Given the description of an element on the screen output the (x, y) to click on. 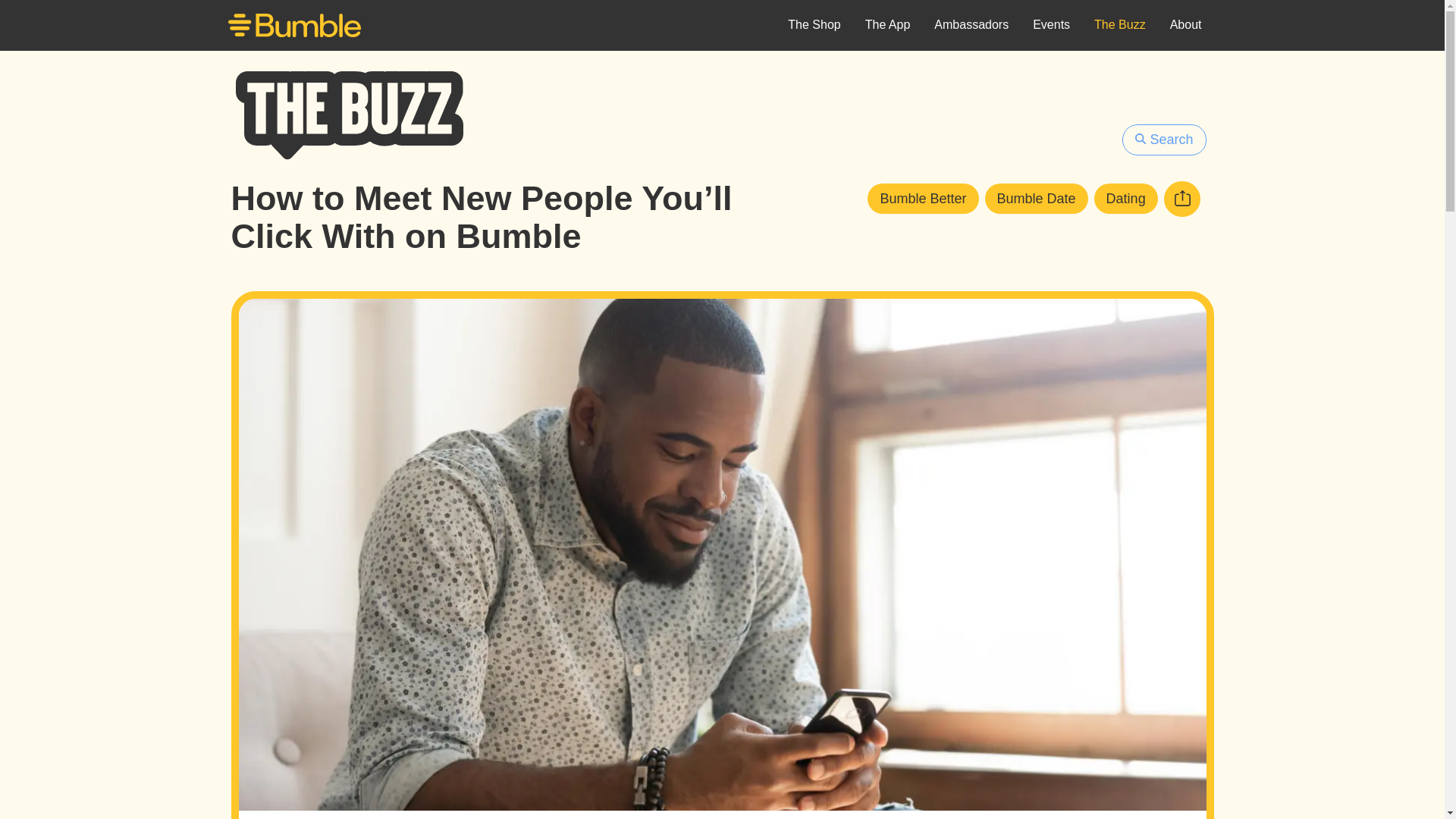
Bumble (293, 27)
Ambassadors (970, 25)
Search (1163, 139)
The Buzz (1119, 25)
About (1185, 25)
Events (1050, 25)
The App (888, 25)
The Shop (813, 25)
